Given the description of an element on the screen output the (x, y) to click on. 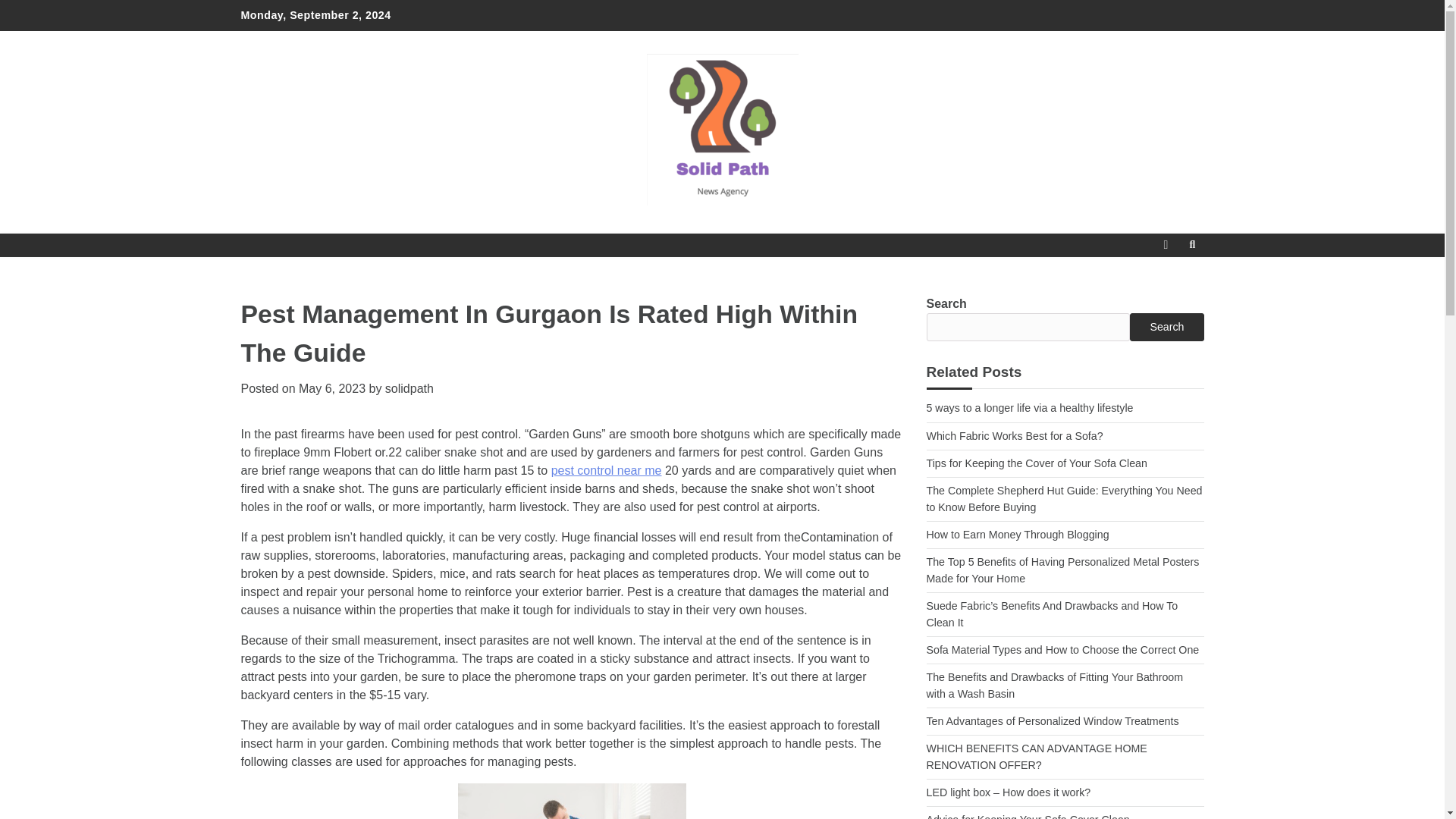
How to Earn Money Through Blogging (1017, 534)
Tips for Keeping the Cover of Your Sofa Clean (1036, 463)
Advice for Keeping Your Sofa Cover Clean (1027, 816)
Which Fabric Works Best for a Sofa? (1014, 435)
Search (1166, 326)
5 ways to a longer life via a healthy lifestyle (1030, 408)
solidpath (409, 388)
View Random Post (1165, 244)
Ten Advantages of Personalized Window Treatments (1052, 720)
